Given the description of an element on the screen output the (x, y) to click on. 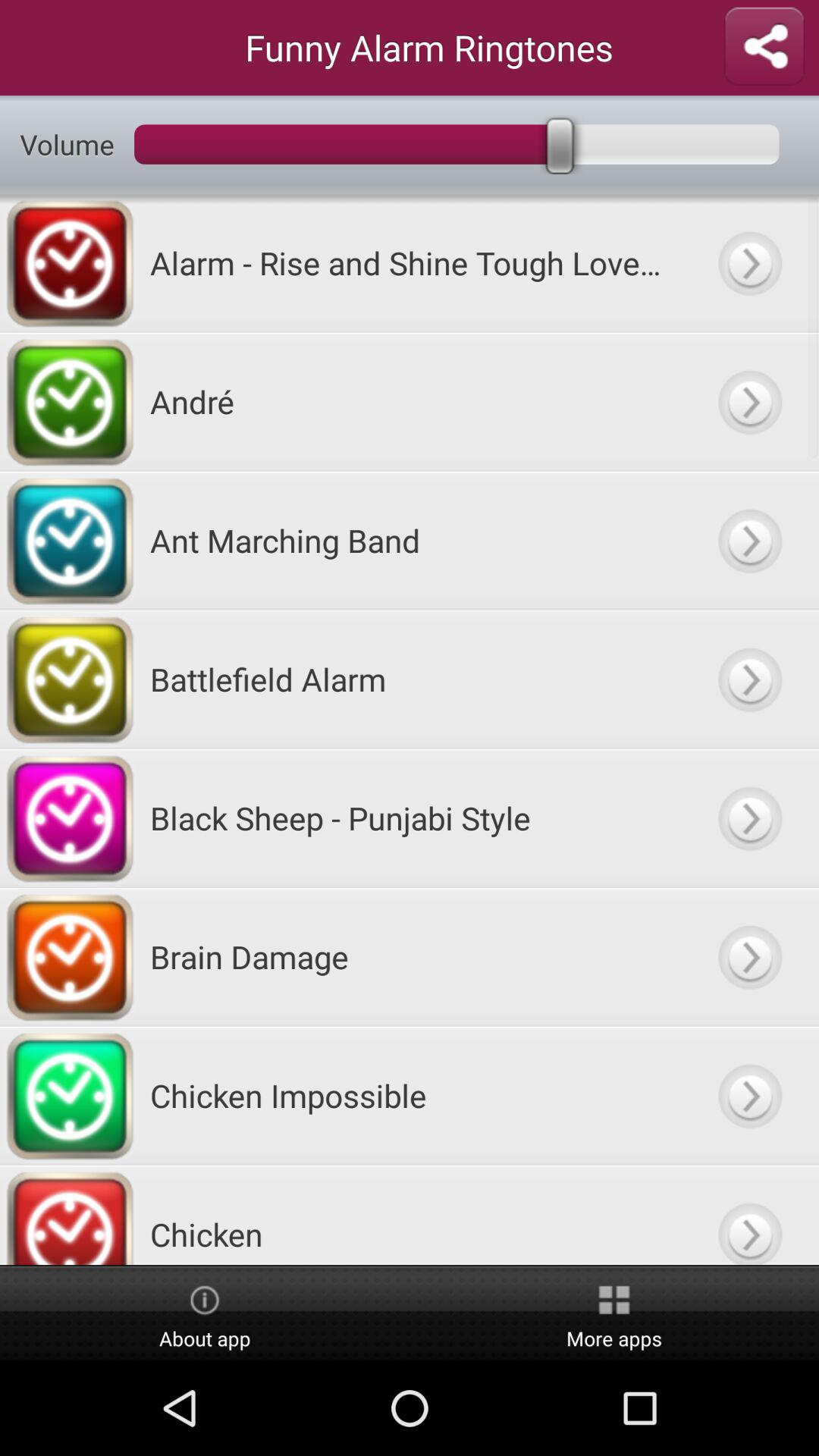
go to option (749, 1214)
